Given the description of an element on the screen output the (x, y) to click on. 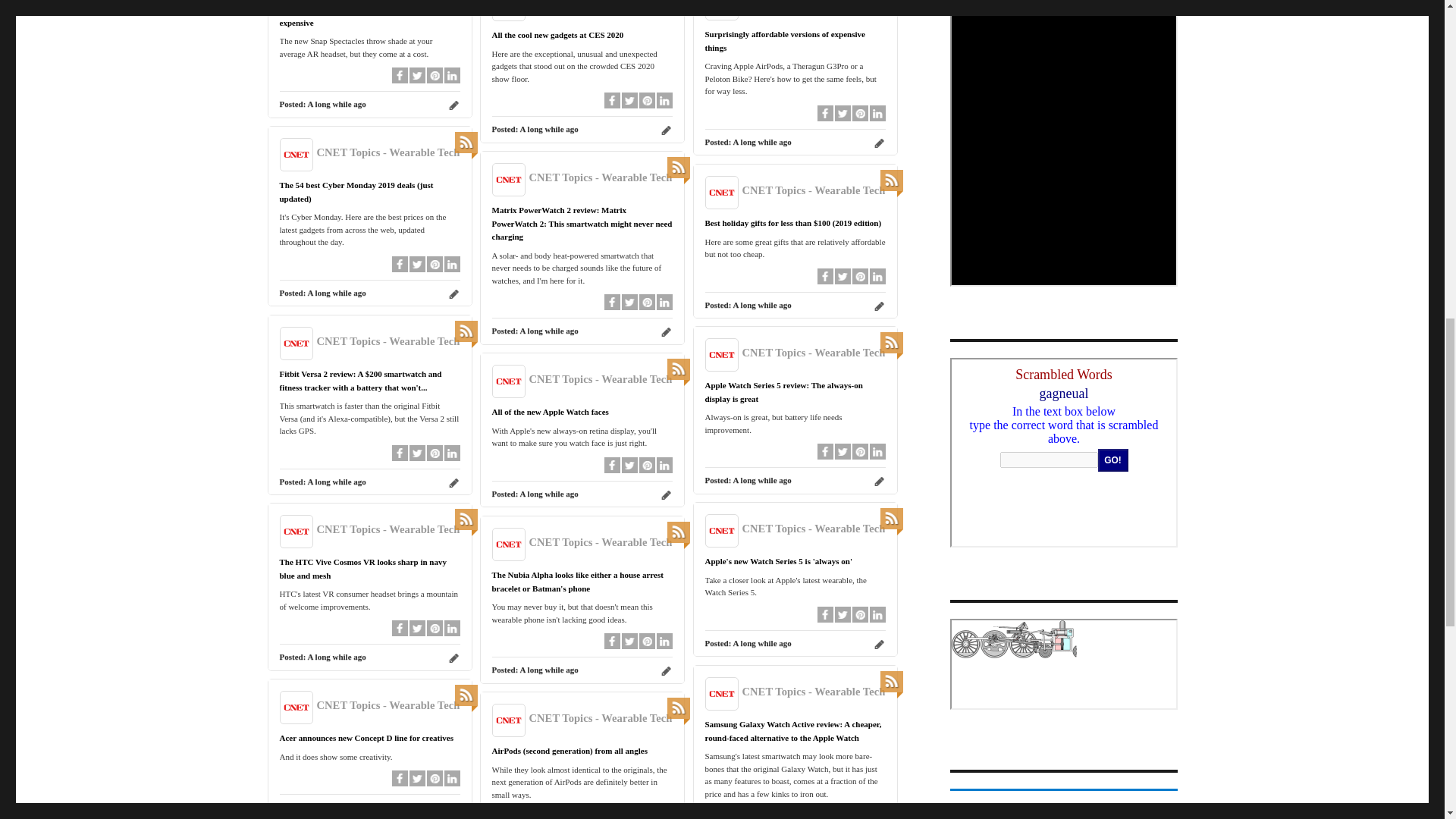
January 24, 2020 3:45 pm (761, 141)
Pencil (666, 331)
November 7, 2019 5:00 pm (548, 329)
Pencil (454, 104)
Pencil (454, 294)
Pencil (879, 143)
September 4, 2020 7:00 am (336, 103)
Pencil (666, 130)
January 14, 2020 4:46 pm (548, 128)
December 2, 2019 4:00 pm (336, 292)
